Given the description of an element on the screen output the (x, y) to click on. 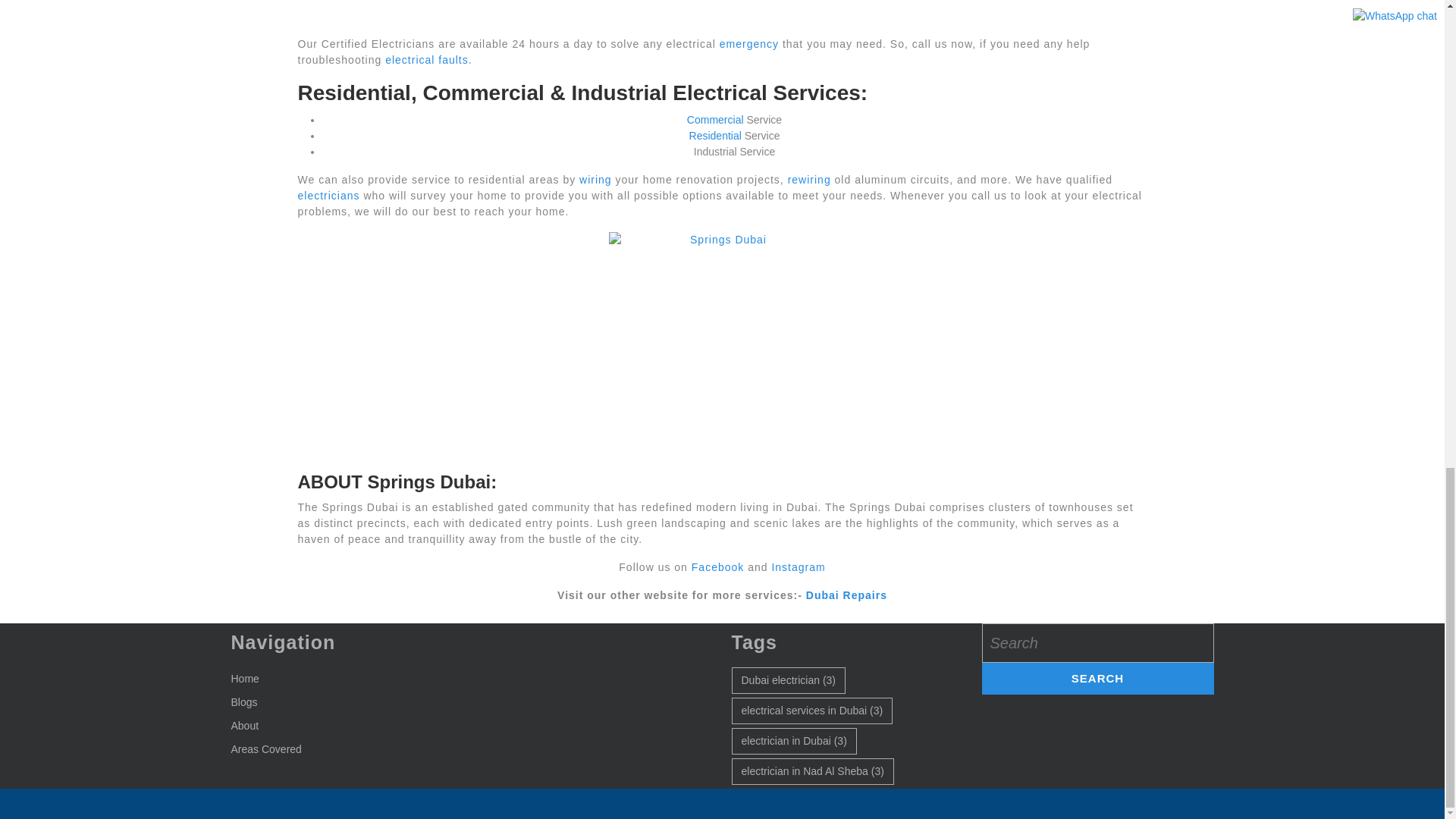
Search (1096, 678)
Search (1096, 678)
